Given the description of an element on the screen output the (x, y) to click on. 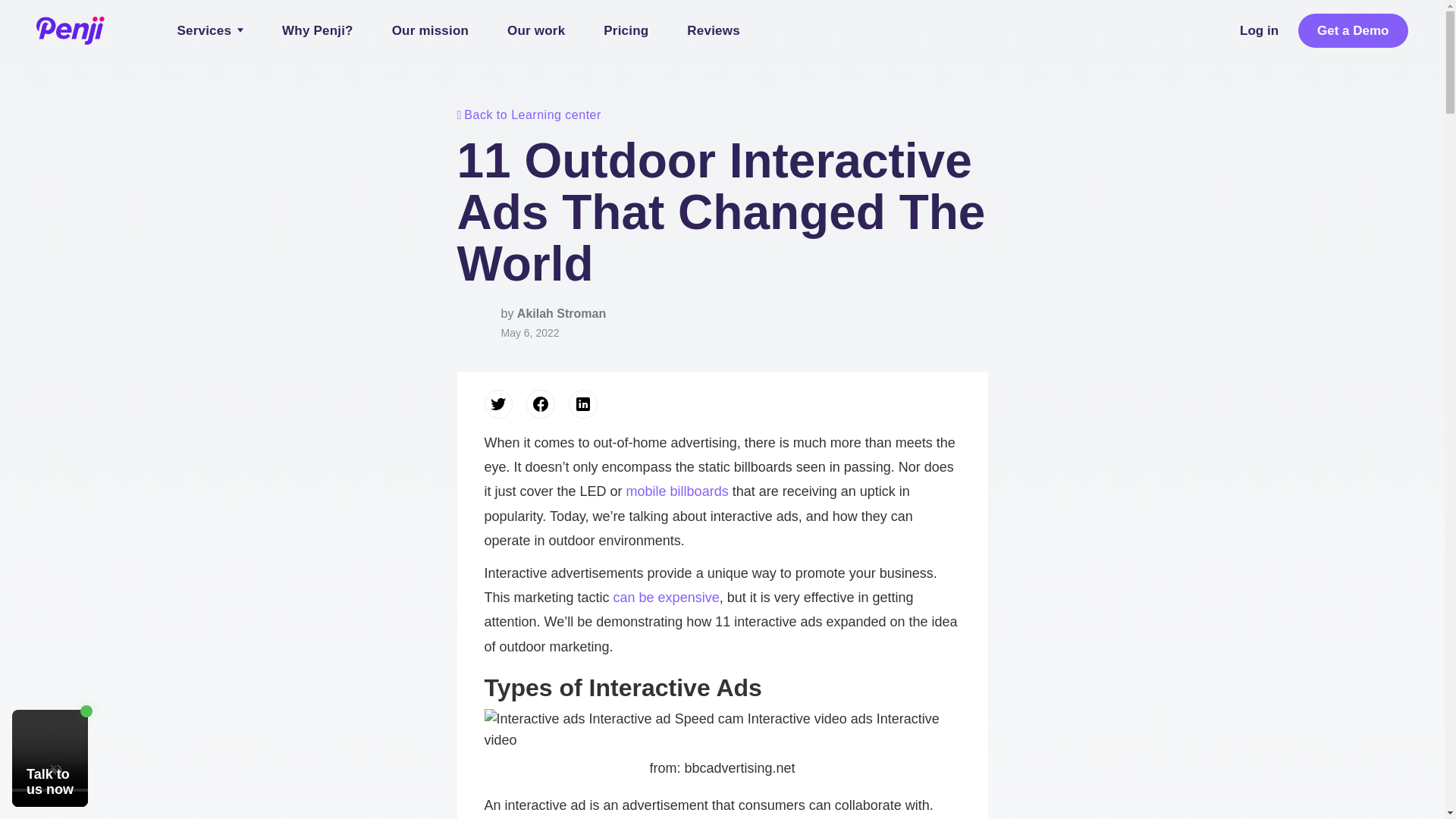
Back to Learning center (722, 114)
Log in (1259, 30)
can be expensive (665, 597)
Akilah Stroman (560, 313)
Posts by Akilah Stroman (560, 313)
mobile billboards (677, 491)
Why Penji? (317, 30)
Pricing (626, 30)
Our mission (429, 30)
Services (210, 30)
